Given the description of an element on the screen output the (x, y) to click on. 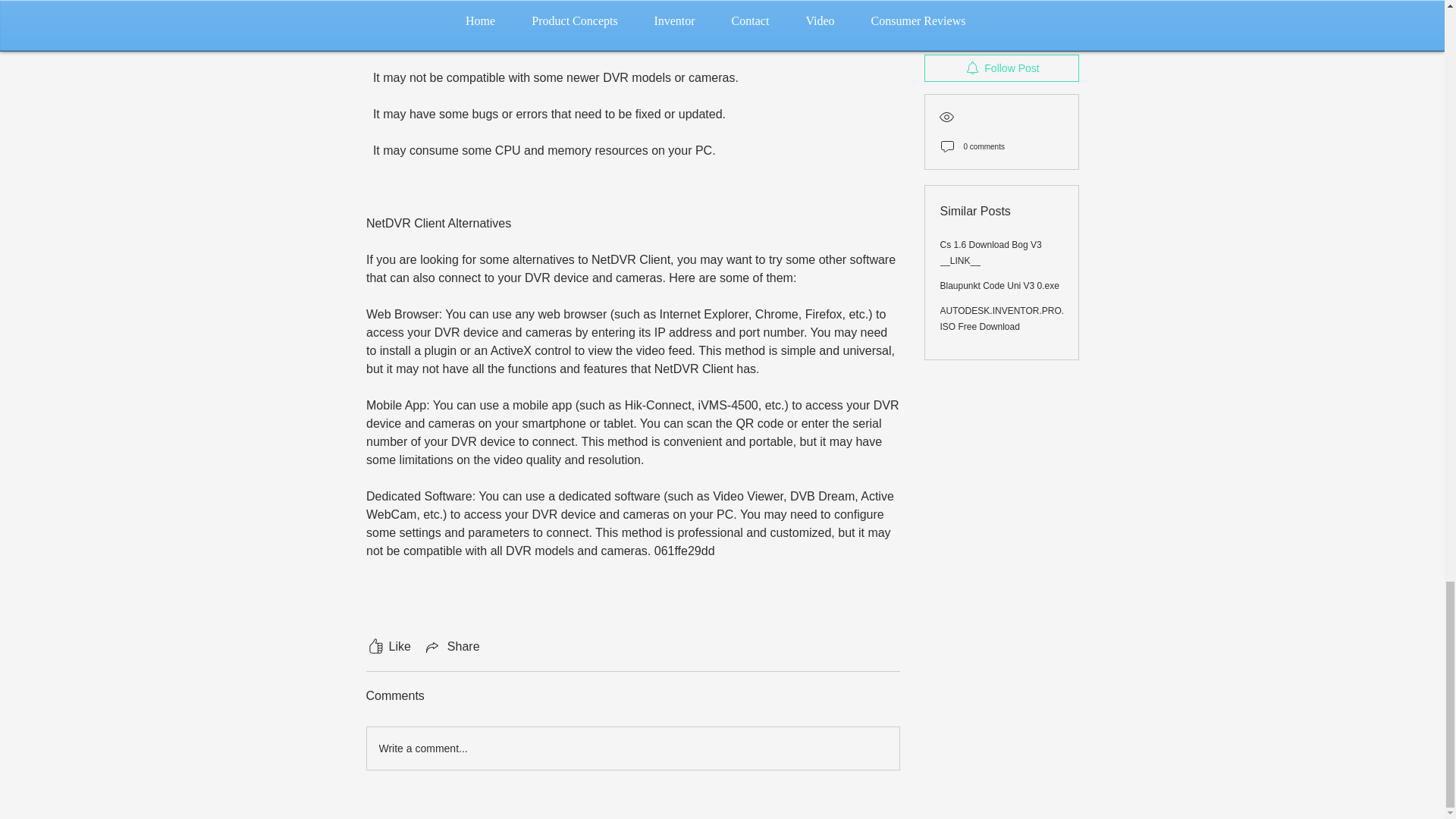
Share (451, 647)
Write a comment... (632, 748)
Like (387, 647)
